Given the description of an element on the screen output the (x, y) to click on. 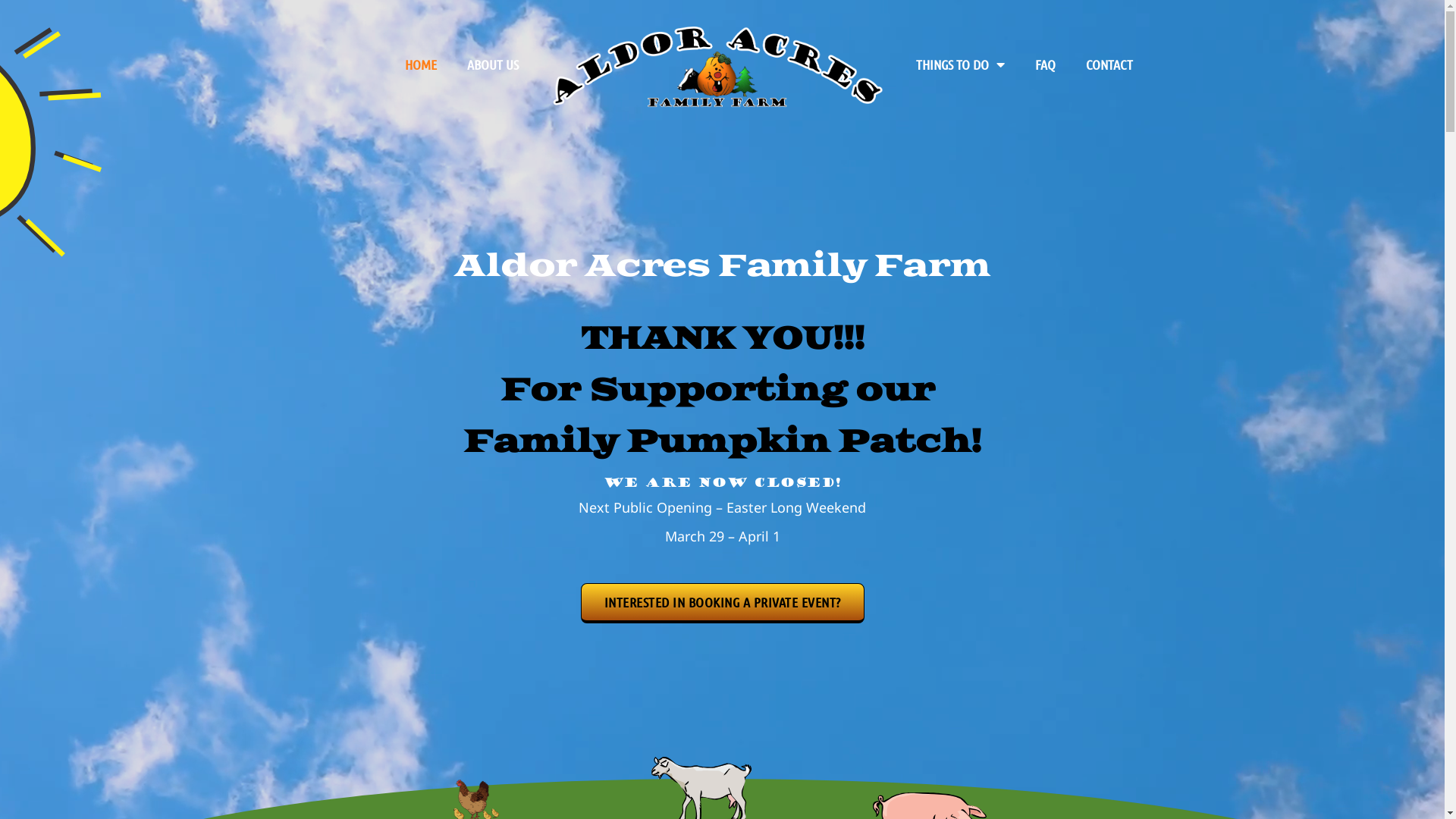
INTERESTED IN BOOKING A PRIVATE EVENT? Element type: text (722, 603)
ABOUT US Element type: text (492, 64)
HOME Element type: text (420, 64)
CONTACT Element type: text (1109, 64)
FAQ Element type: text (1044, 64)
THINGS TO DO Element type: text (959, 64)
